Given the description of an element on the screen output the (x, y) to click on. 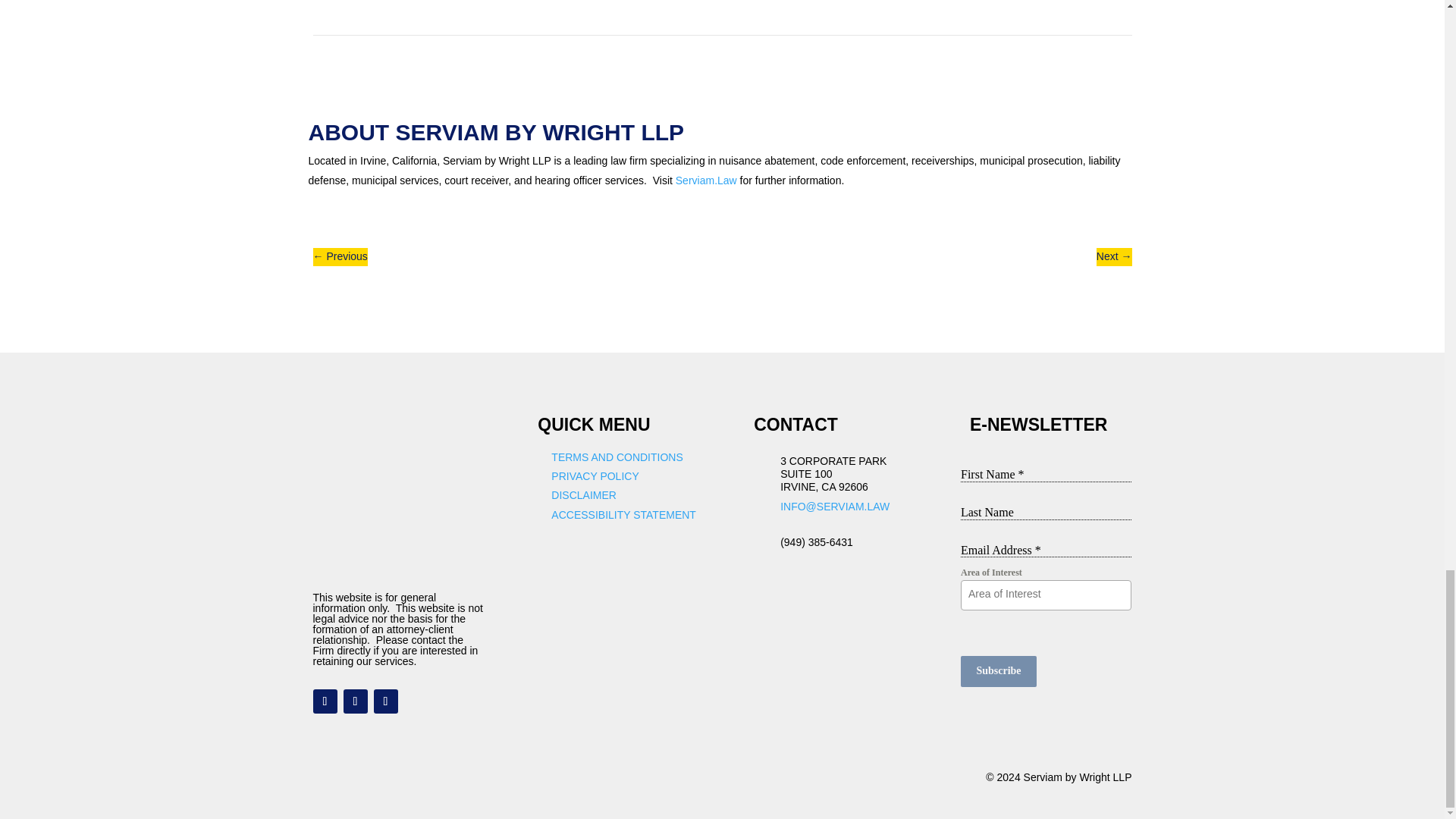
Follow on Instagram (384, 701)
View our Accessibility Statement (623, 514)
Follow on Facebook (354, 701)
View our Disclaimer Page (583, 494)
View our Terms and Conditions page (616, 457)
View our Privacy Policy Page (595, 476)
Follow on LinkedIn (324, 701)
Send us an email (834, 506)
